Given the description of an element on the screen output the (x, y) to click on. 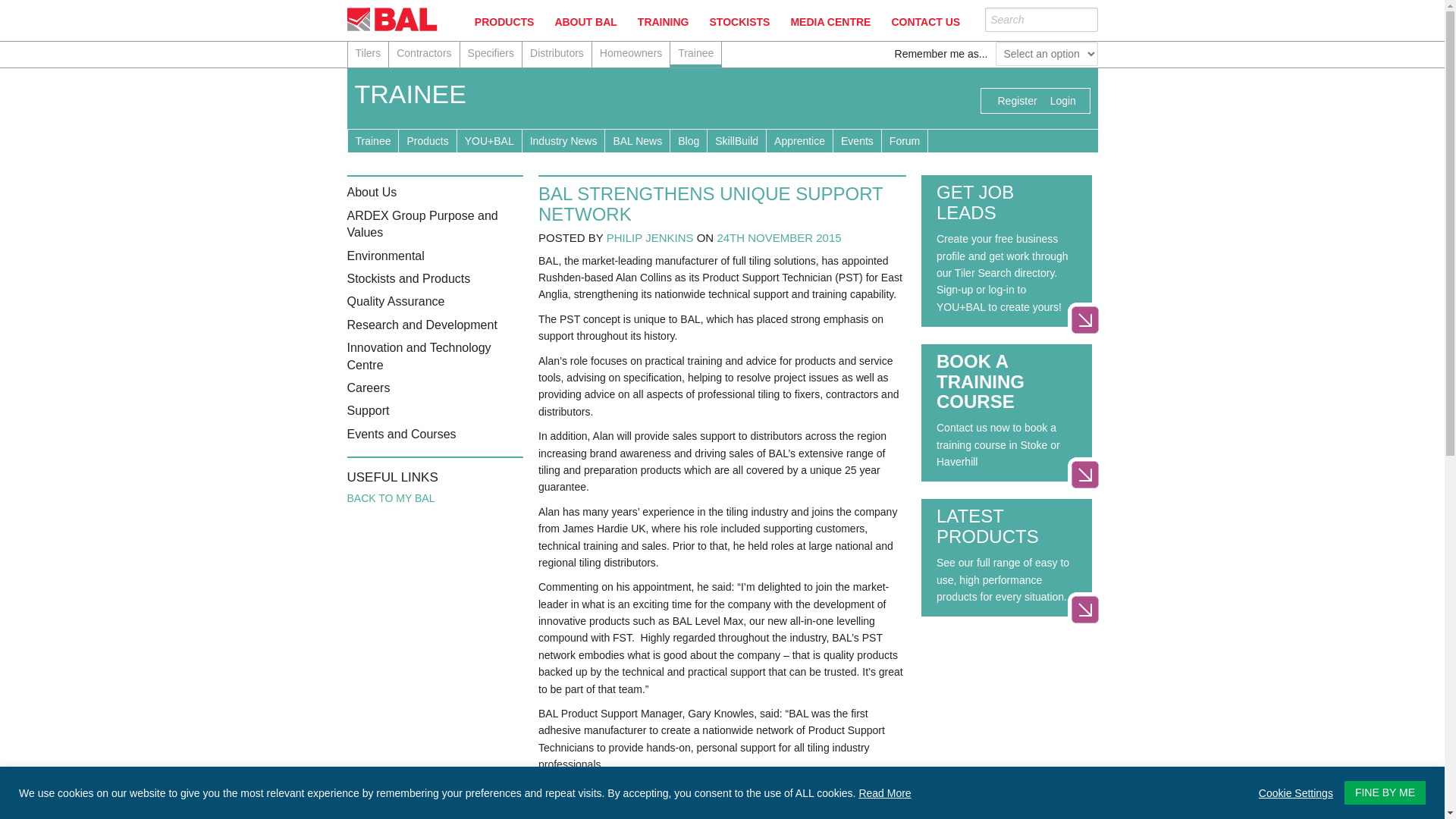
Distributors (556, 54)
Products (426, 140)
TRAINING (663, 21)
Specifiers (490, 54)
Homeowners (630, 54)
Apprentice (799, 140)
ARDEX Group Purpose and Values (422, 224)
Stockists and Products (408, 278)
Tilers (367, 54)
About Us (372, 192)
Events (856, 140)
1:19 pm (778, 237)
CONTACT US (924, 21)
Book a Training Course (1084, 474)
View all posts by Philip Jenkins (650, 237)
